Given the description of an element on the screen output the (x, y) to click on. 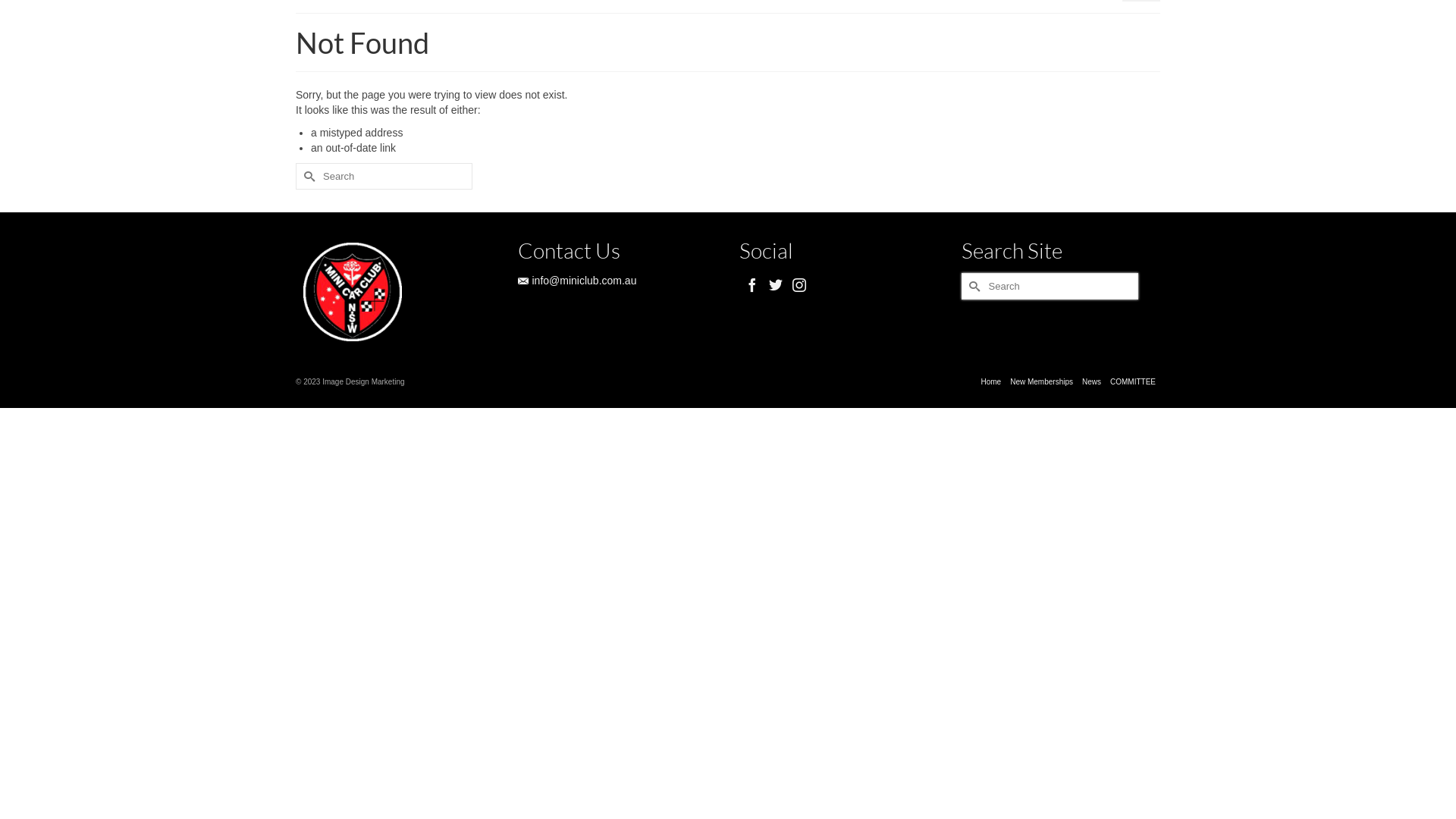
COMMITTEE Element type: text (1132, 381)
info@miniclub.com.au Element type: text (576, 280)
Home Element type: text (990, 381)
New Memberships Element type: text (1041, 381)
News Element type: text (1091, 381)
